Given the description of an element on the screen output the (x, y) to click on. 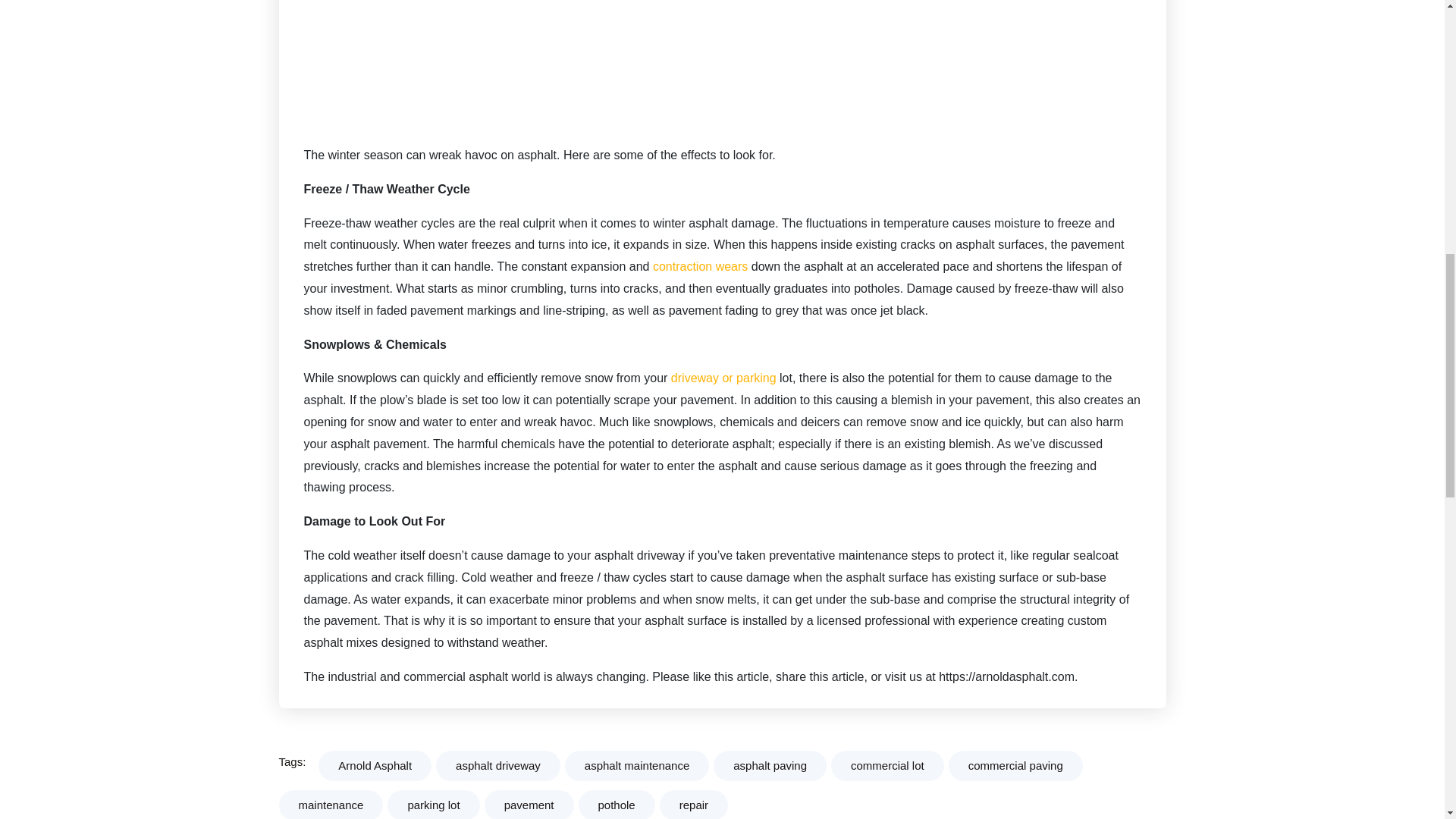
asphalt maintenance (636, 766)
commercial paving (1016, 766)
contraction wears (700, 266)
Arnold Asphalt (374, 766)
asphalt driveway (497, 766)
driveway or parking (721, 377)
commercial lot (887, 766)
asphalt paving (770, 766)
